Given the description of an element on the screen output the (x, y) to click on. 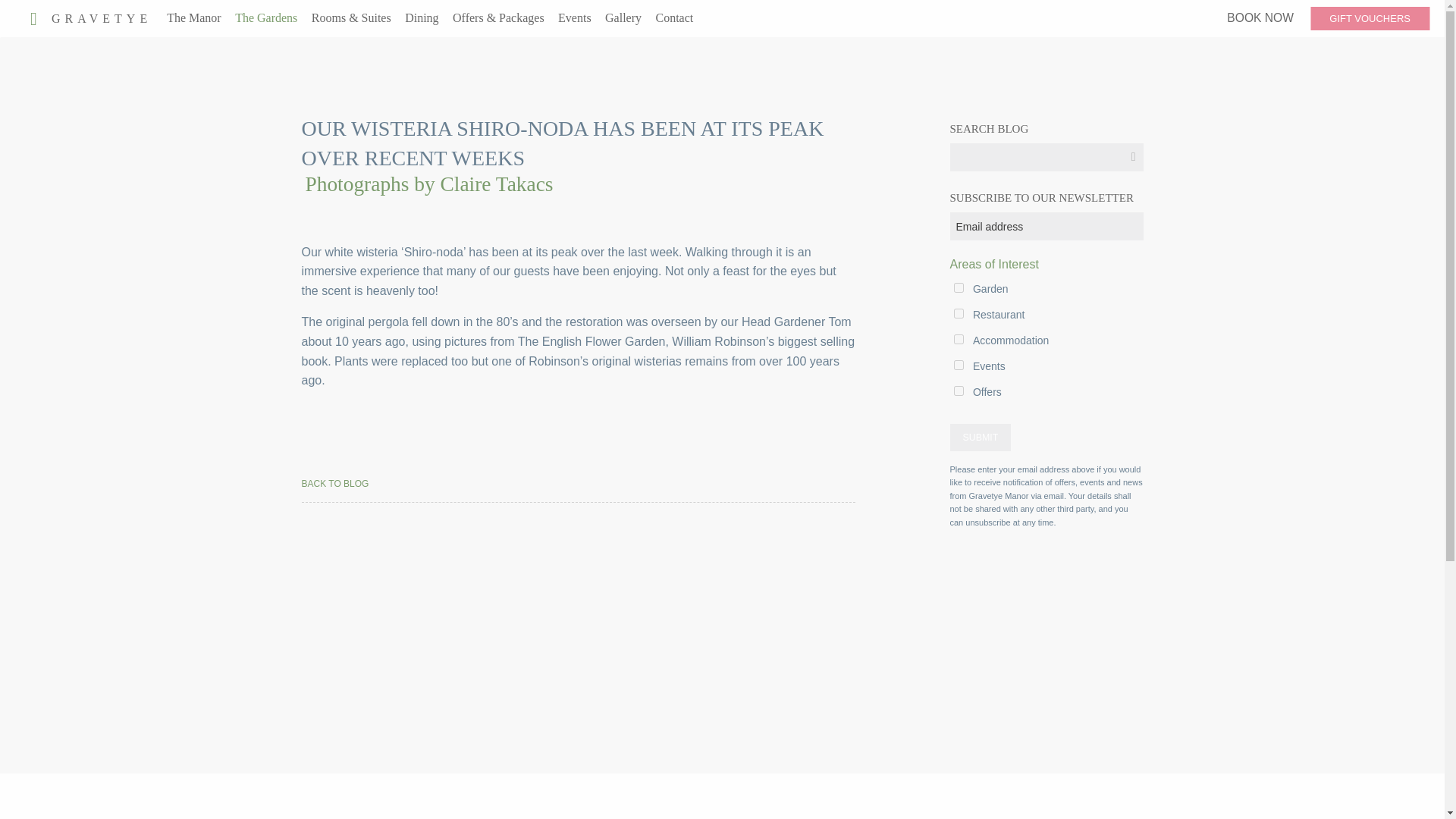
Restaurant (958, 313)
Accommodation (958, 338)
Offers (958, 390)
Submit (979, 437)
Garden (958, 287)
Events (958, 365)
